Given the description of an element on the screen output the (x, y) to click on. 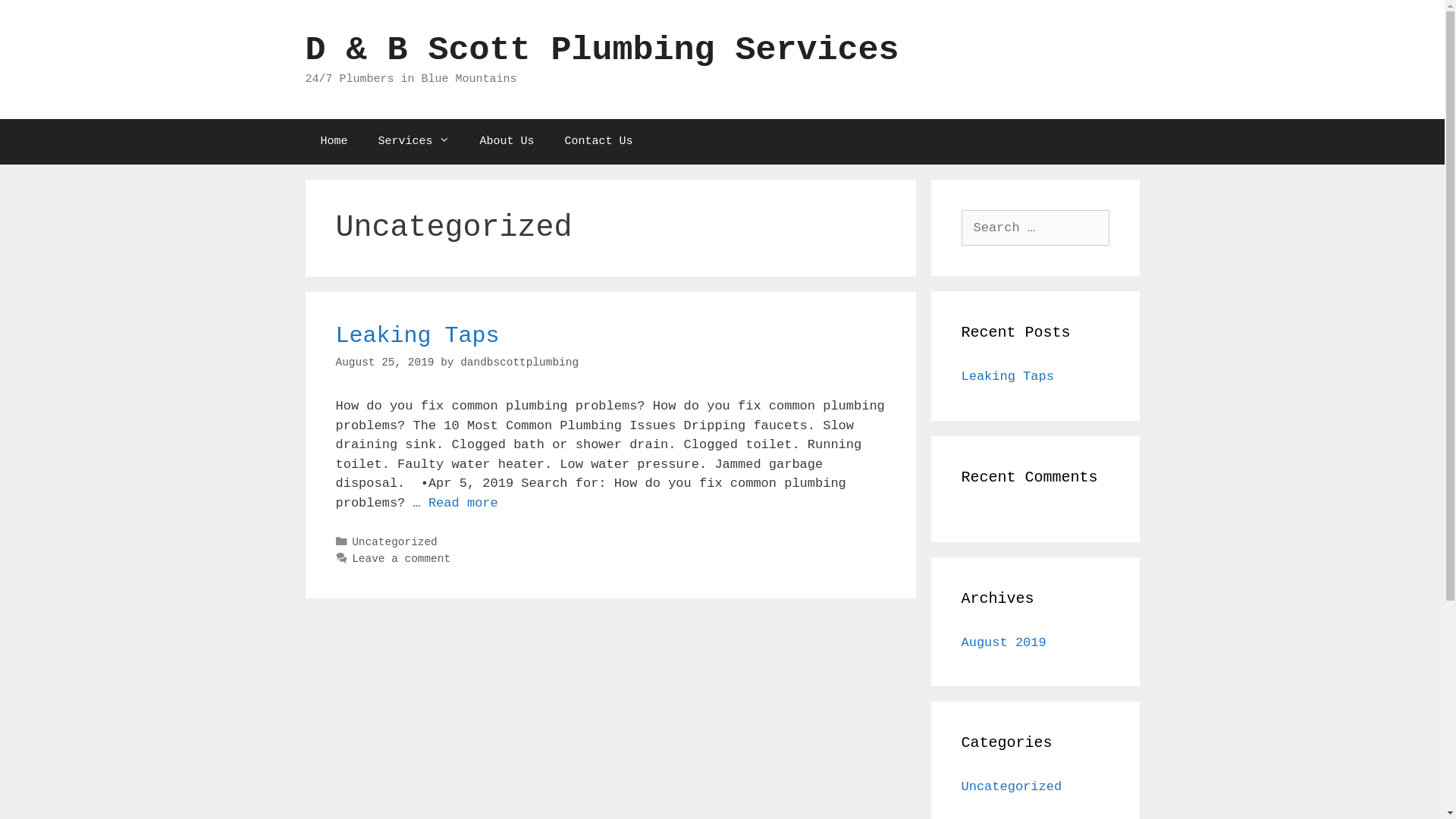
Contact Us Element type: text (598, 140)
Leaking Taps Element type: text (416, 335)
Services Element type: text (413, 140)
Leave a comment Element type: text (400, 558)
Home Element type: text (333, 140)
Uncategorized Element type: text (1011, 786)
Read more Element type: text (463, 502)
August 2019 Element type: text (1003, 642)
About Us Element type: text (506, 140)
D & B Scott Plumbing Services Element type: text (601, 50)
Search Element type: text (39, 18)
dandbscottplumbing Element type: text (519, 362)
Uncategorized Element type: text (394, 542)
Search for: Element type: hover (1035, 227)
Leaking Taps Element type: text (1007, 376)
